Given the description of an element on the screen output the (x, y) to click on. 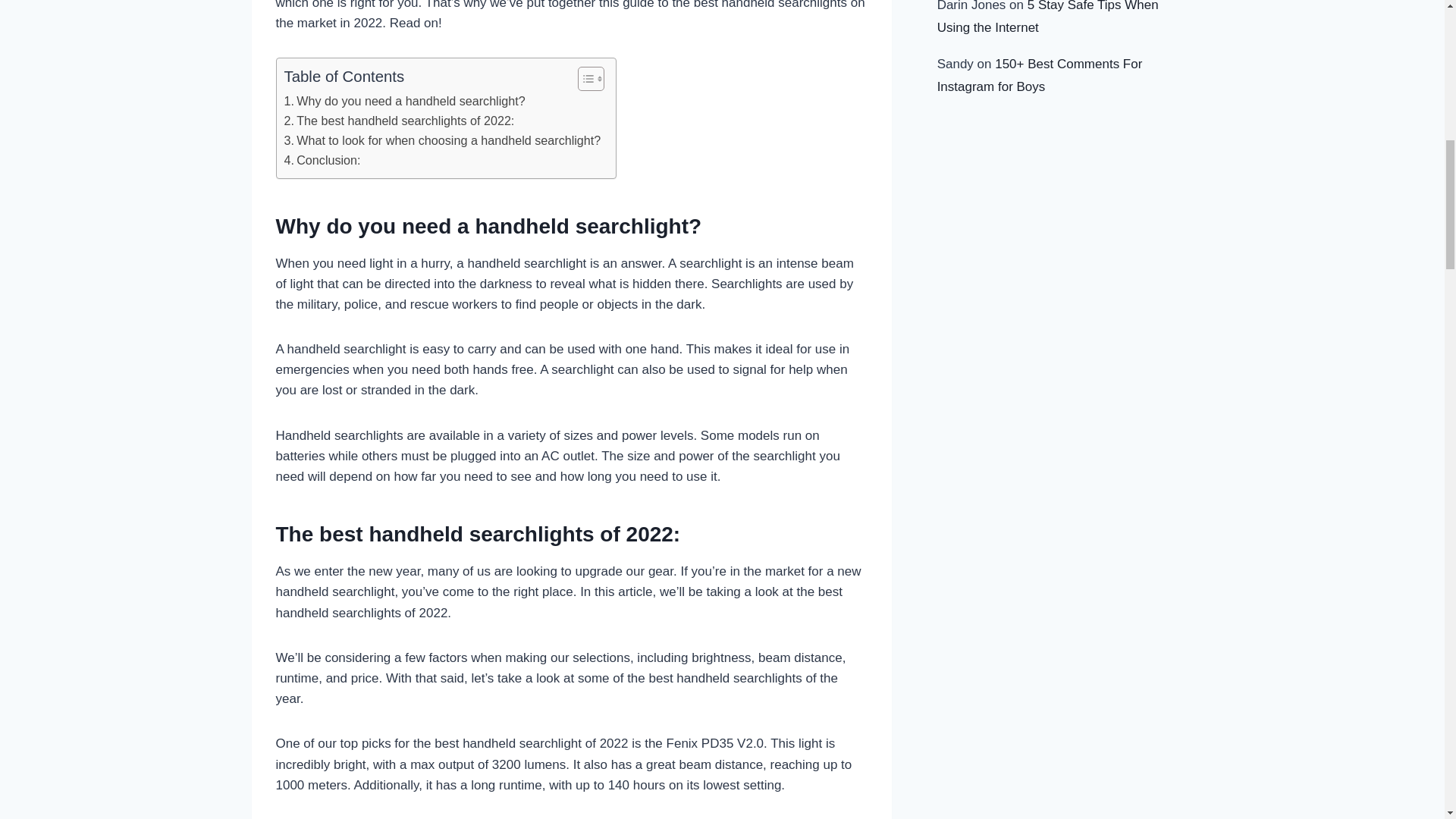
Conclusion: (321, 160)
What to look for when choosing a handheld searchlight? (441, 140)
Why do you need a handheld searchlight? (403, 101)
The best handheld searchlights of 2022: (398, 121)
What to look for when choosing a handheld searchlight? (441, 140)
Conclusion: (321, 160)
The best handheld searchlights of 2022: (398, 121)
Why do you need a handheld searchlight? (403, 101)
